Given the description of an element on the screen output the (x, y) to click on. 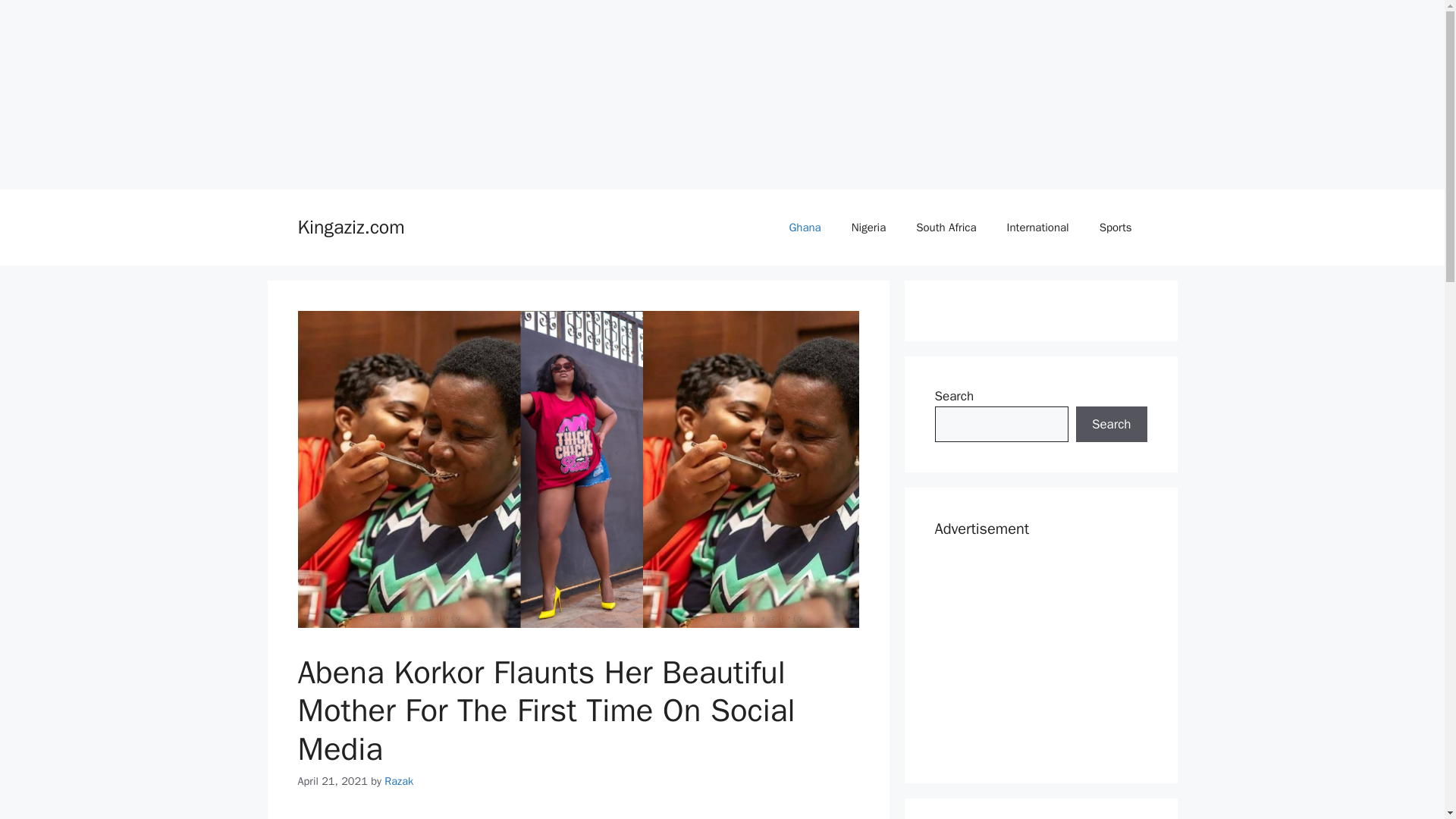
International (1037, 227)
Kingaziz.com (350, 227)
Nigeria (868, 227)
Ghana (804, 227)
Search (1111, 424)
South Africa (946, 227)
Sports (1115, 227)
View all posts by Razak (398, 780)
Razak (398, 780)
